Given the description of an element on the screen output the (x, y) to click on. 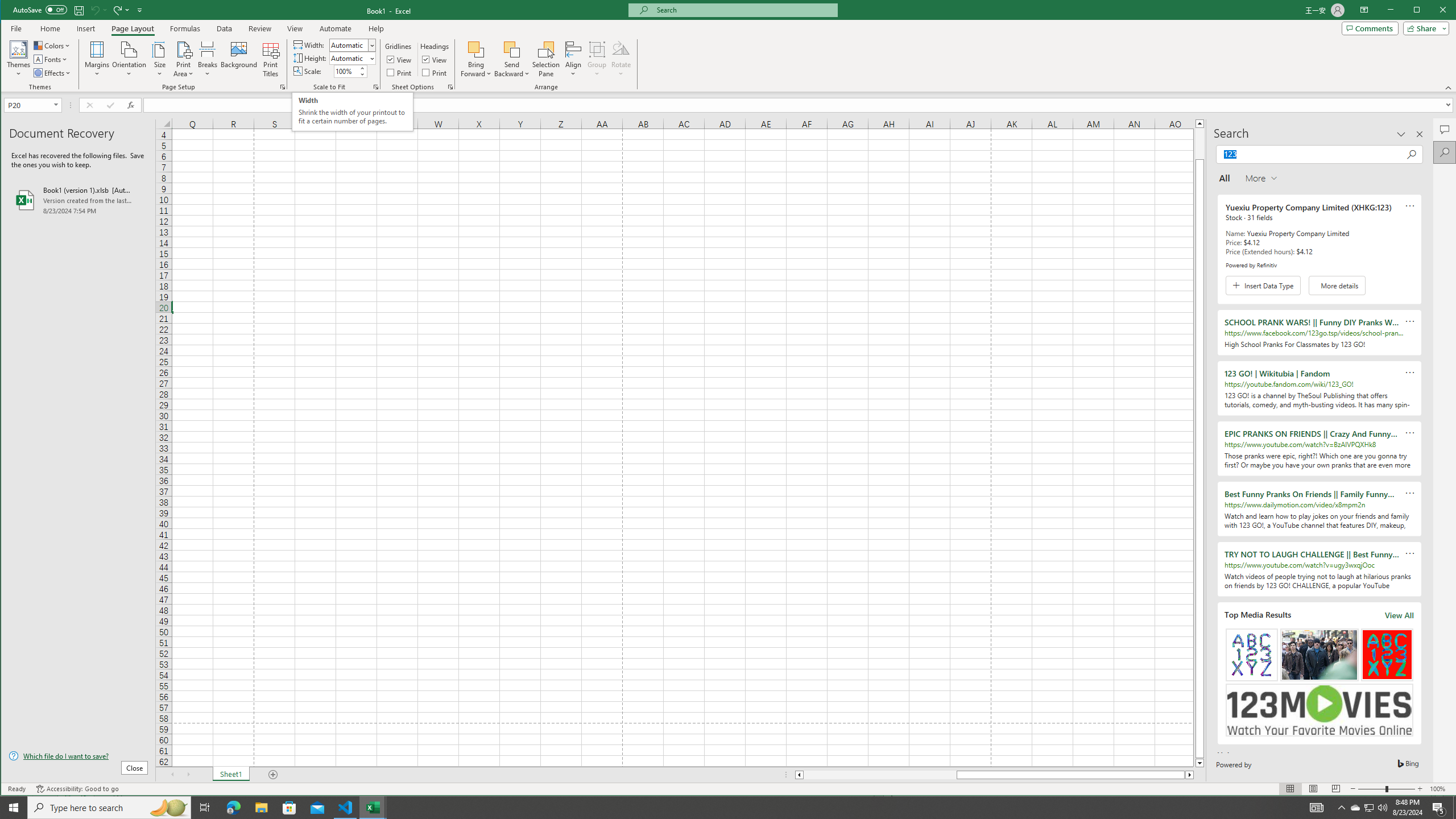
Print Area (183, 59)
Colors (53, 45)
Margins (96, 59)
Rotate (620, 59)
Width (349, 45)
Action Center, 5 new notifications (1439, 807)
Themes (18, 59)
